Given the description of an element on the screen output the (x, y) to click on. 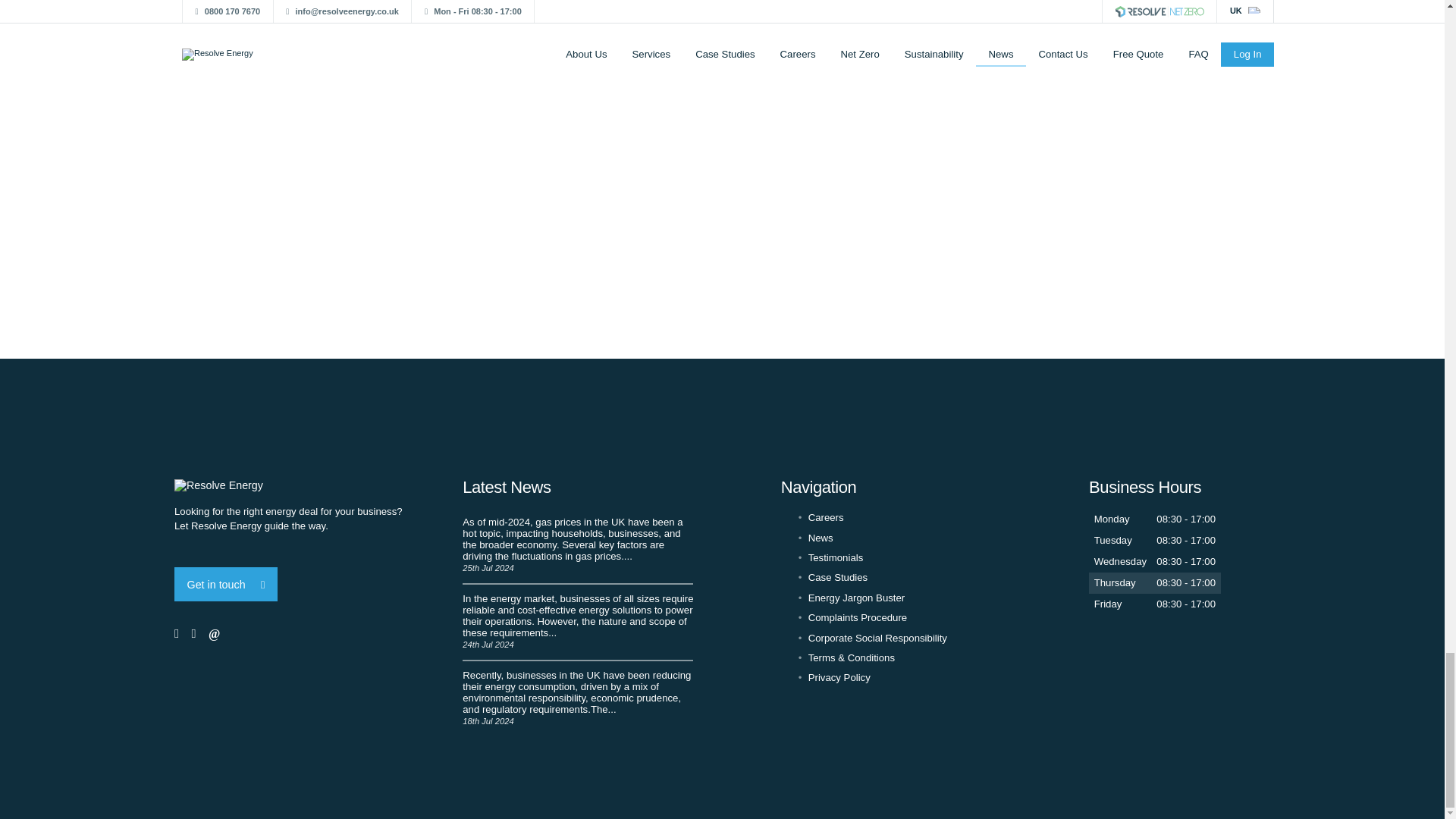
Comparing SME and large business energy bills (578, 622)
Get in touch (226, 584)
What influences gas prices in the UK? (578, 545)
Why are businesses reducing their energy consumption? (578, 694)
